Given the description of an element on the screen output the (x, y) to click on. 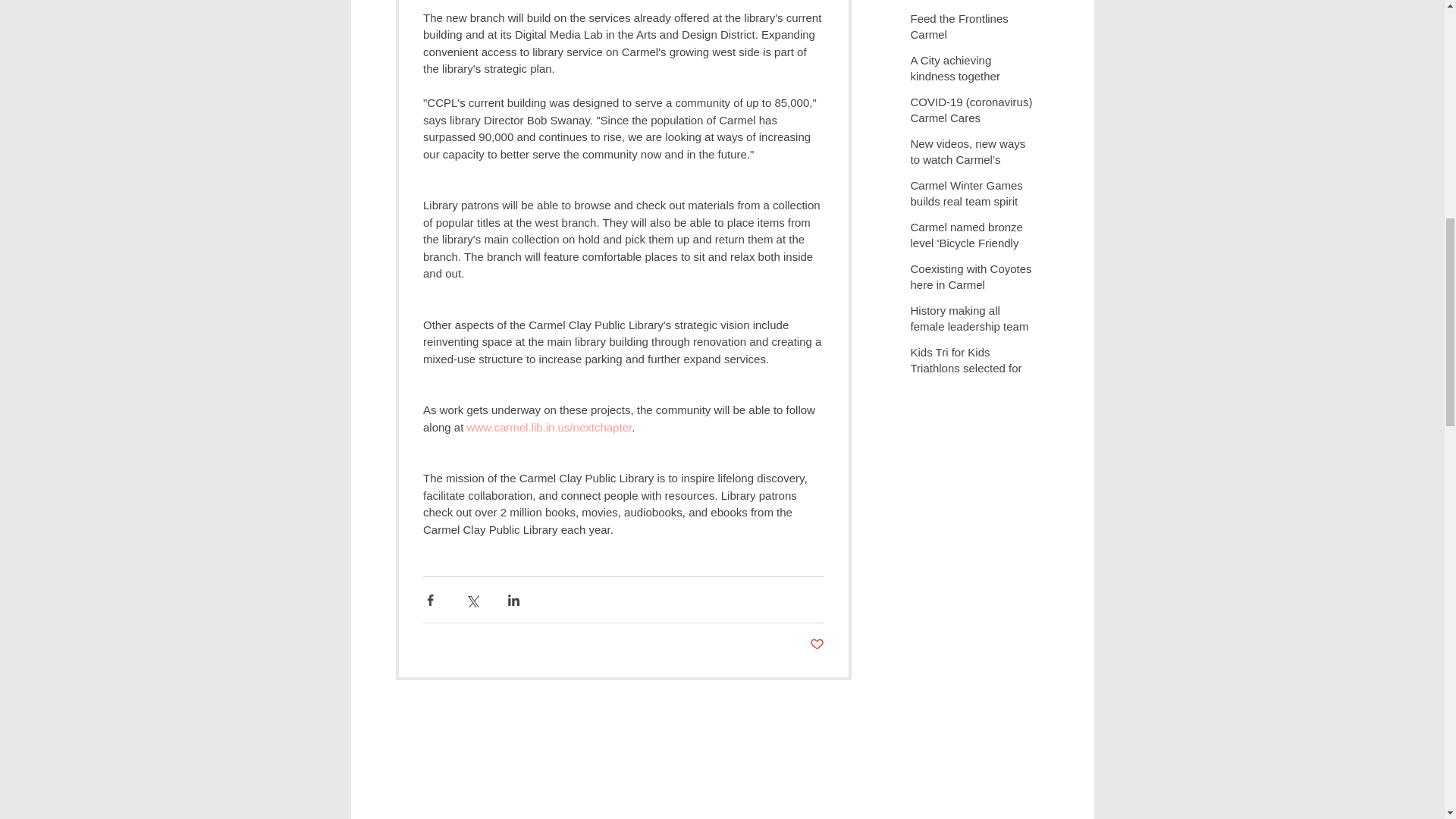
Coexisting with Coyotes here in Carmel (972, 279)
Post not marked as liked (816, 644)
Feed the Frontlines Carmel (972, 29)
Carmel named bronze level 'Bicycle Friendly Business' (972, 245)
A City achieving kindness together (972, 71)
History making all female leadership team (972, 321)
Carmel Winter Games builds real team spirit (972, 196)
City of Carmel Announces Summer Paving Projects (972, 11)
